Given the description of an element on the screen output the (x, y) to click on. 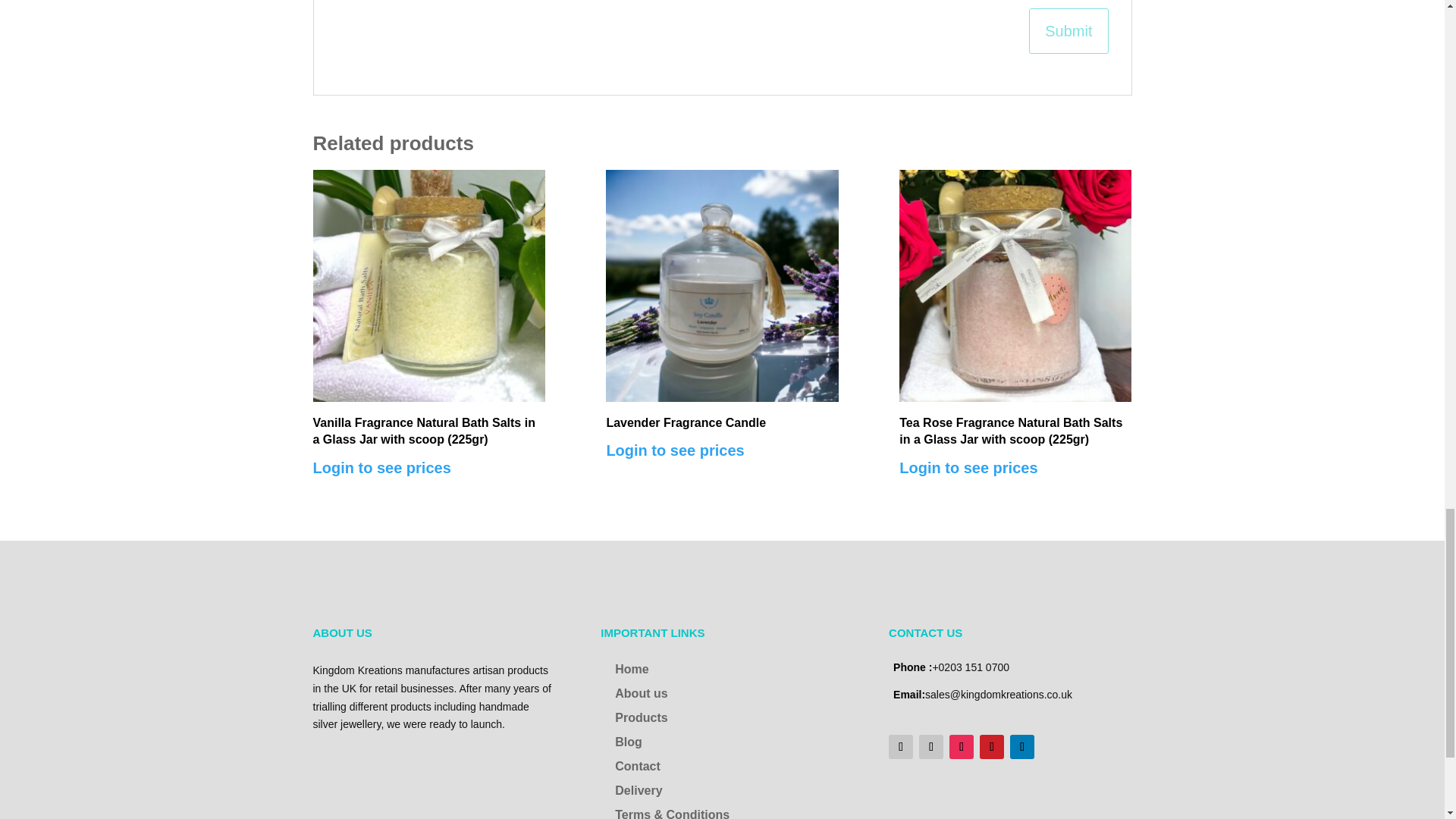
Follow on LinkedIn (1021, 746)
Follow on Twitter (930, 746)
Submit (1068, 31)
Follow on Instagram (961, 746)
Follow on Facebook (900, 746)
Follow on Pinterest (991, 746)
